Given the description of an element on the screen output the (x, y) to click on. 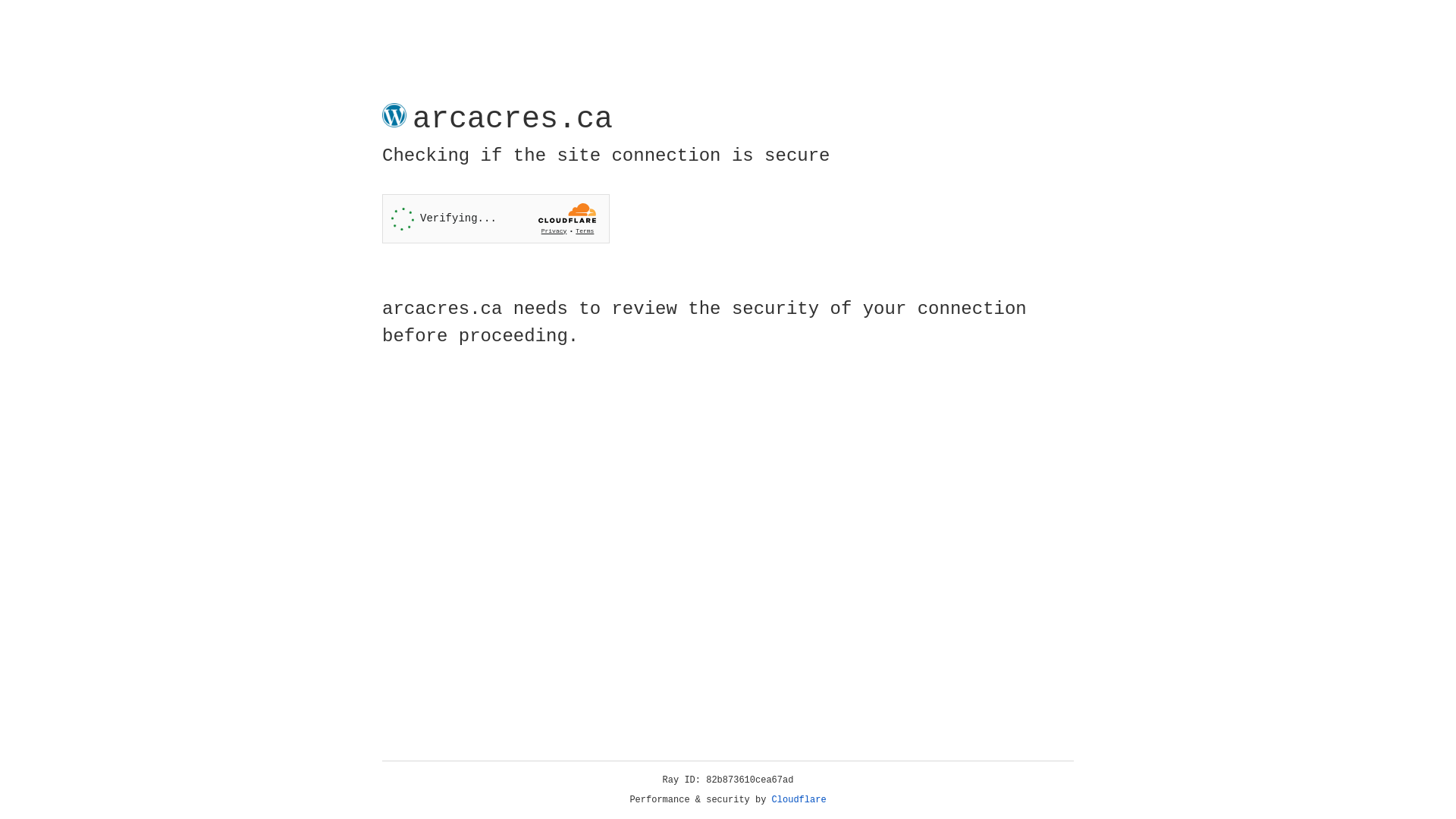
Cloudflare Element type: text (798, 799)
Widget containing a Cloudflare security challenge Element type: hover (495, 218)
